Given the description of an element on the screen output the (x, y) to click on. 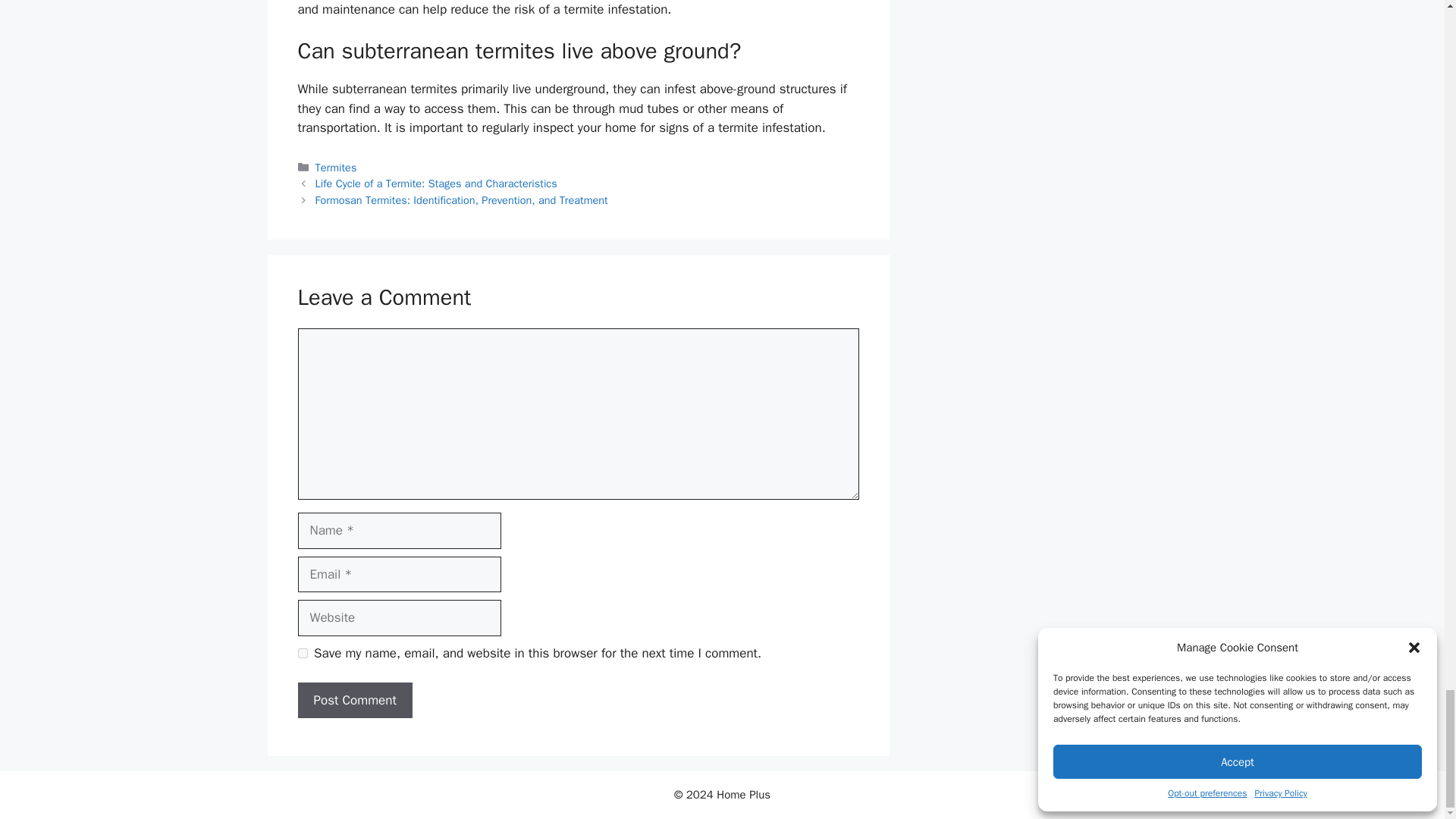
Post Comment (354, 700)
yes (302, 653)
